Given the description of an element on the screen output the (x, y) to click on. 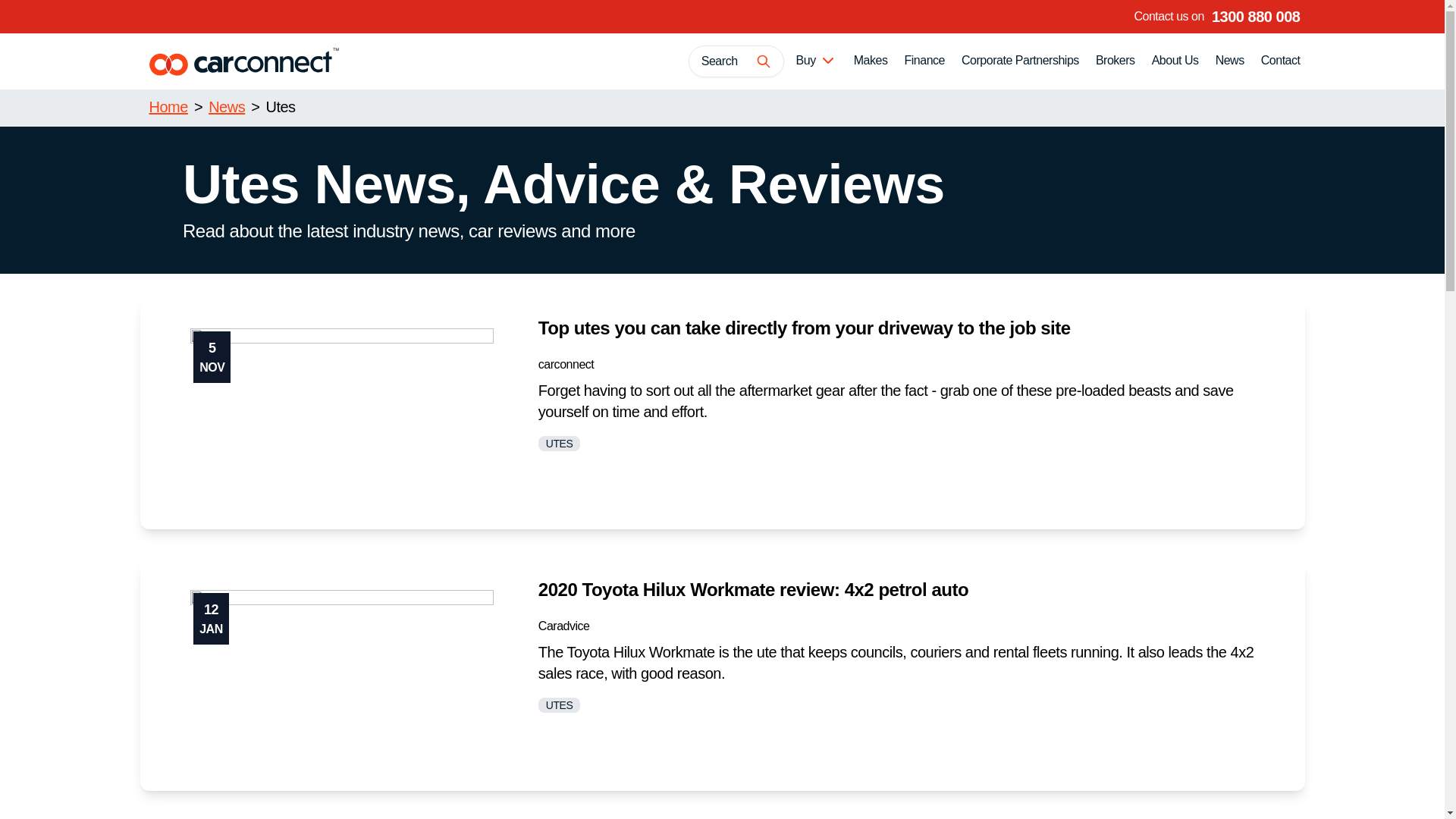
carconnect (566, 364)
Corporate Partnerships (1019, 61)
Caradvice (563, 625)
Search (736, 60)
Brokers (1115, 61)
UTES (558, 443)
News (1230, 61)
About Us (1175, 61)
2020 Toyota Hilux Workmate review: 4x2 petrol auto (753, 589)
Home (167, 106)
